Given the description of an element on the screen output the (x, y) to click on. 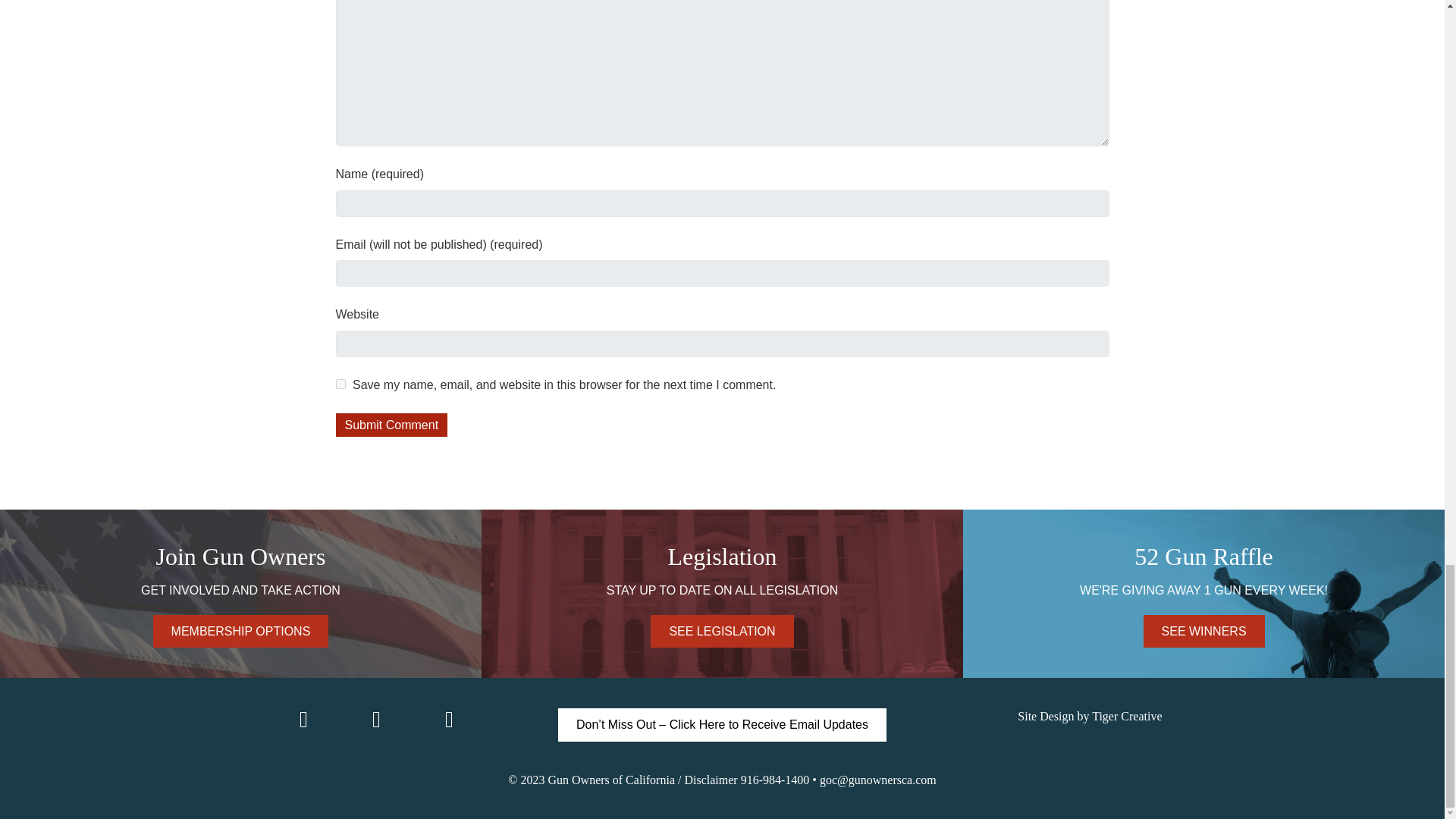
Submit Comment (390, 424)
yes (339, 384)
